Given the description of an element on the screen output the (x, y) to click on. 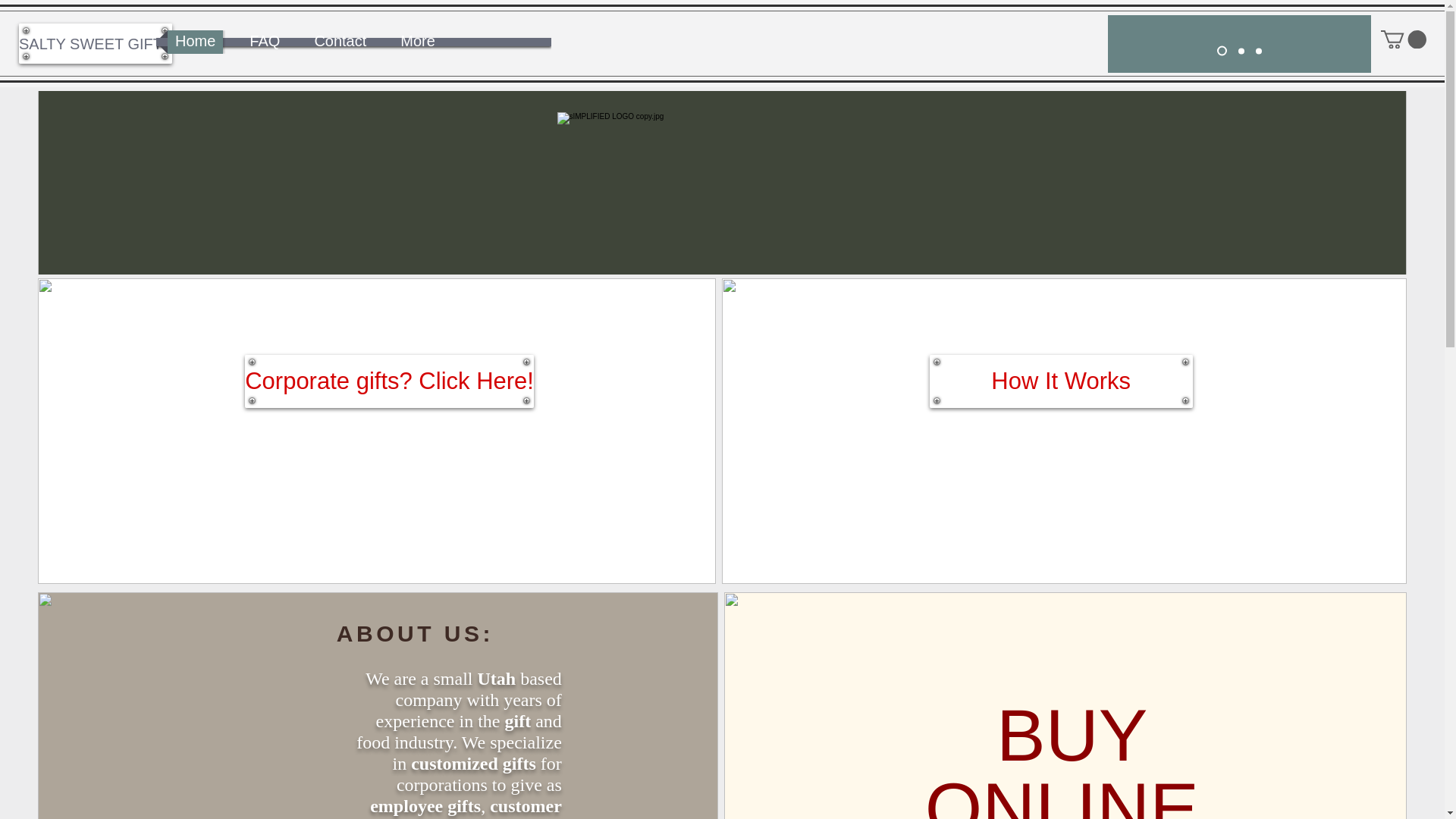
FAQ (264, 42)
How It Works (1061, 380)
Home (195, 42)
Corporate gifts? Click Here! (389, 380)
SALTY SWEET GIFTS (94, 43)
Contact (339, 42)
